Given the description of an element on the screen output the (x, y) to click on. 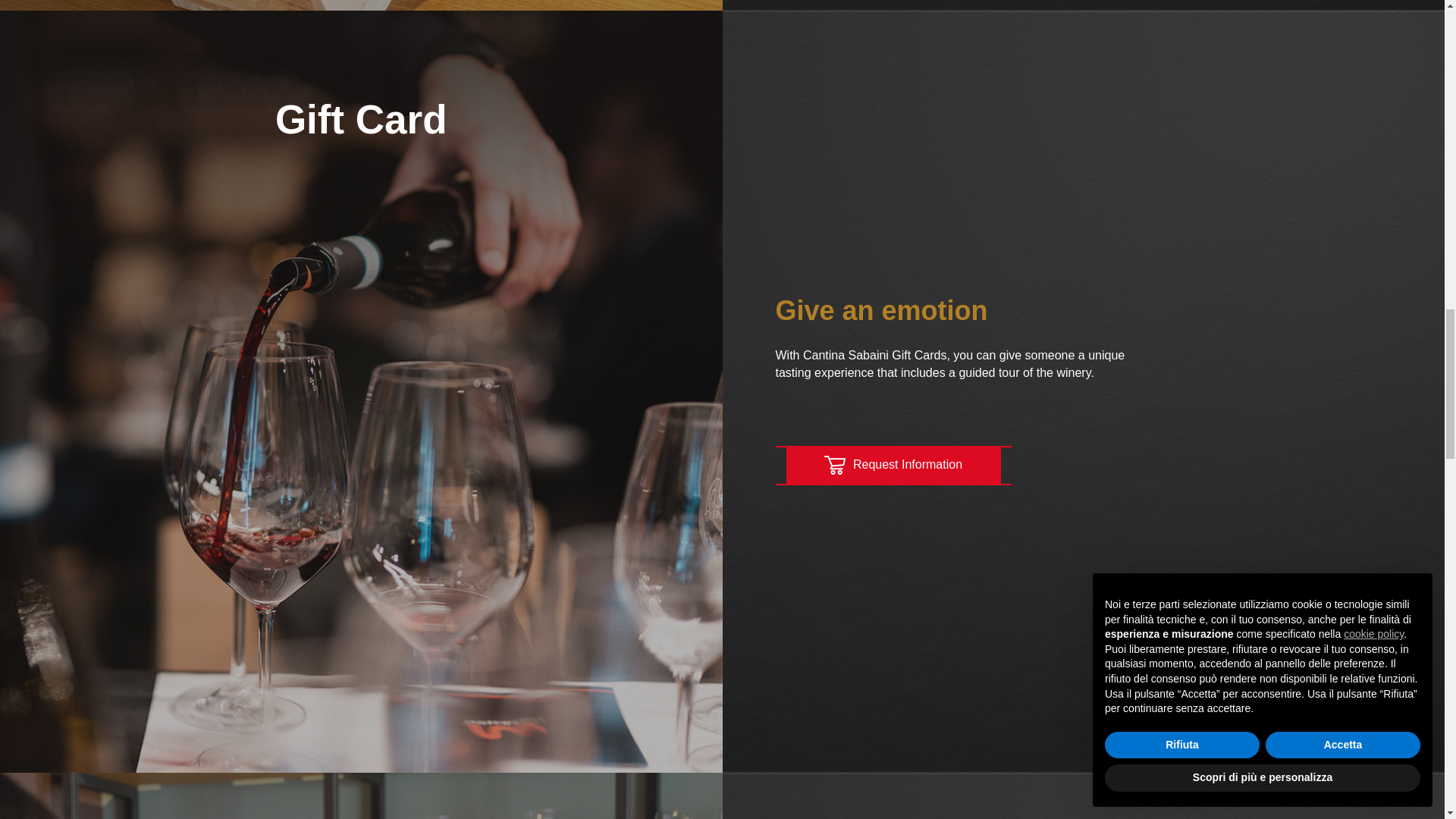
Request Information (893, 463)
